Given the description of an element on the screen output the (x, y) to click on. 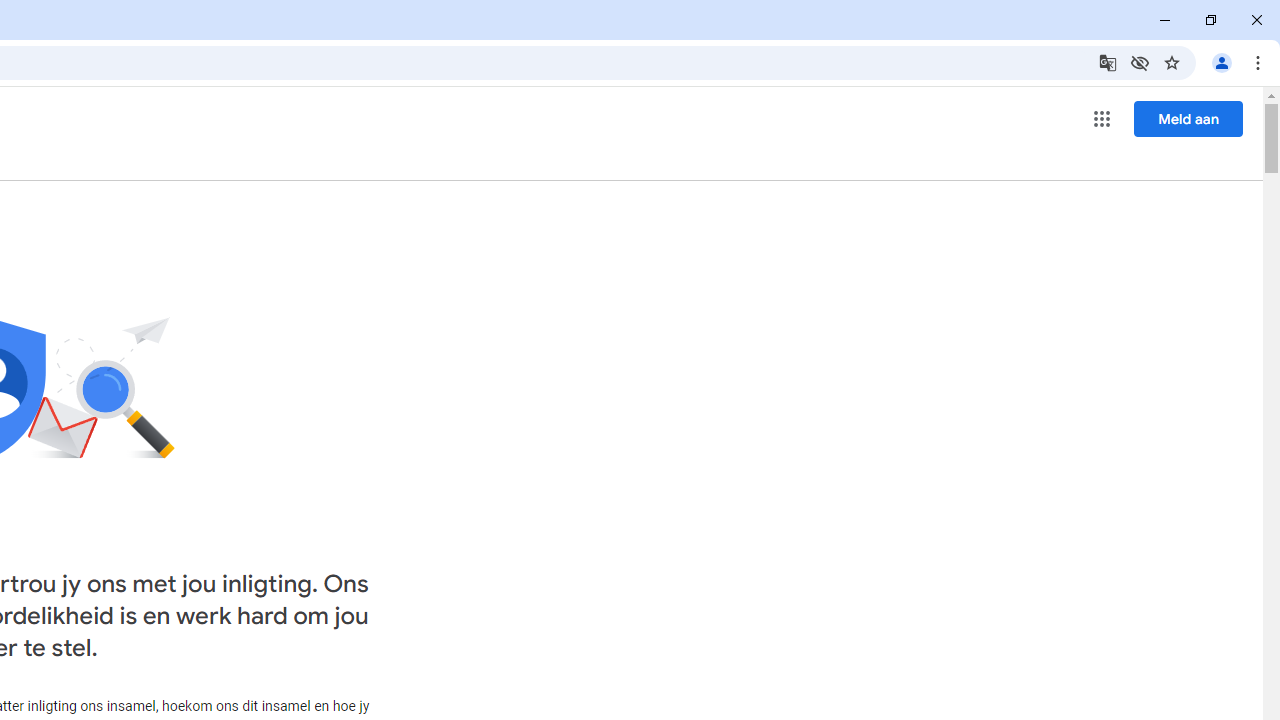
Meld aan (1188, 118)
Chrome (1260, 62)
Bookmark this tab (1171, 62)
Minimize (1165, 20)
Translate this page (1107, 62)
Third-party cookies blocked (1139, 62)
Restore (1210, 20)
You (1221, 62)
Google-programme (1101, 118)
